Given the description of an element on the screen output the (x, y) to click on. 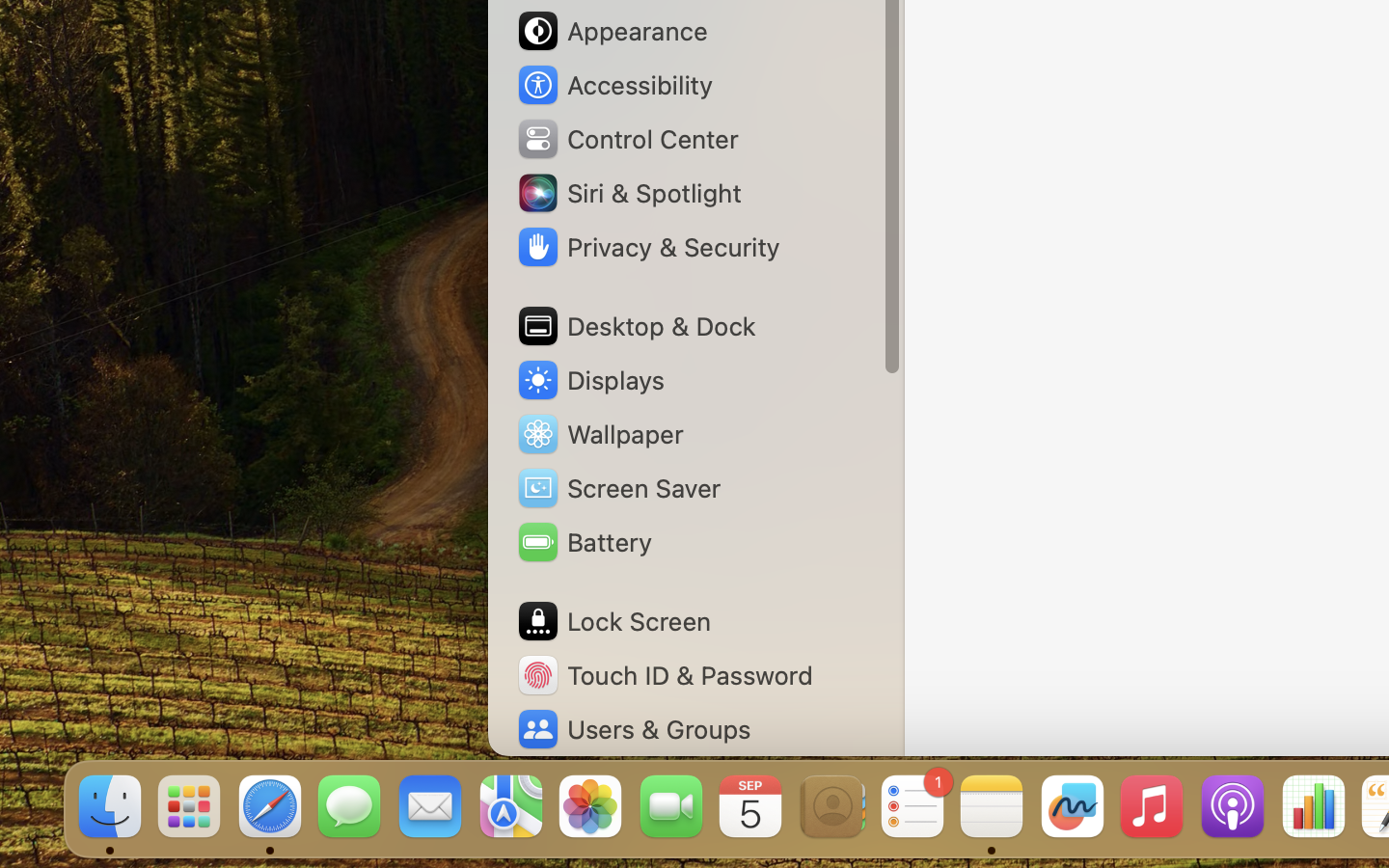
Users & Groups Element type: AXStaticText (632, 728)
Wallpaper Element type: AXStaticText (598, 433)
Siri & Spotlight Element type: AXStaticText (627, 192)
Desktop & Dock Element type: AXStaticText (635, 325)
Appearance Element type: AXStaticText (611, 30)
